Given the description of an element on the screen output the (x, y) to click on. 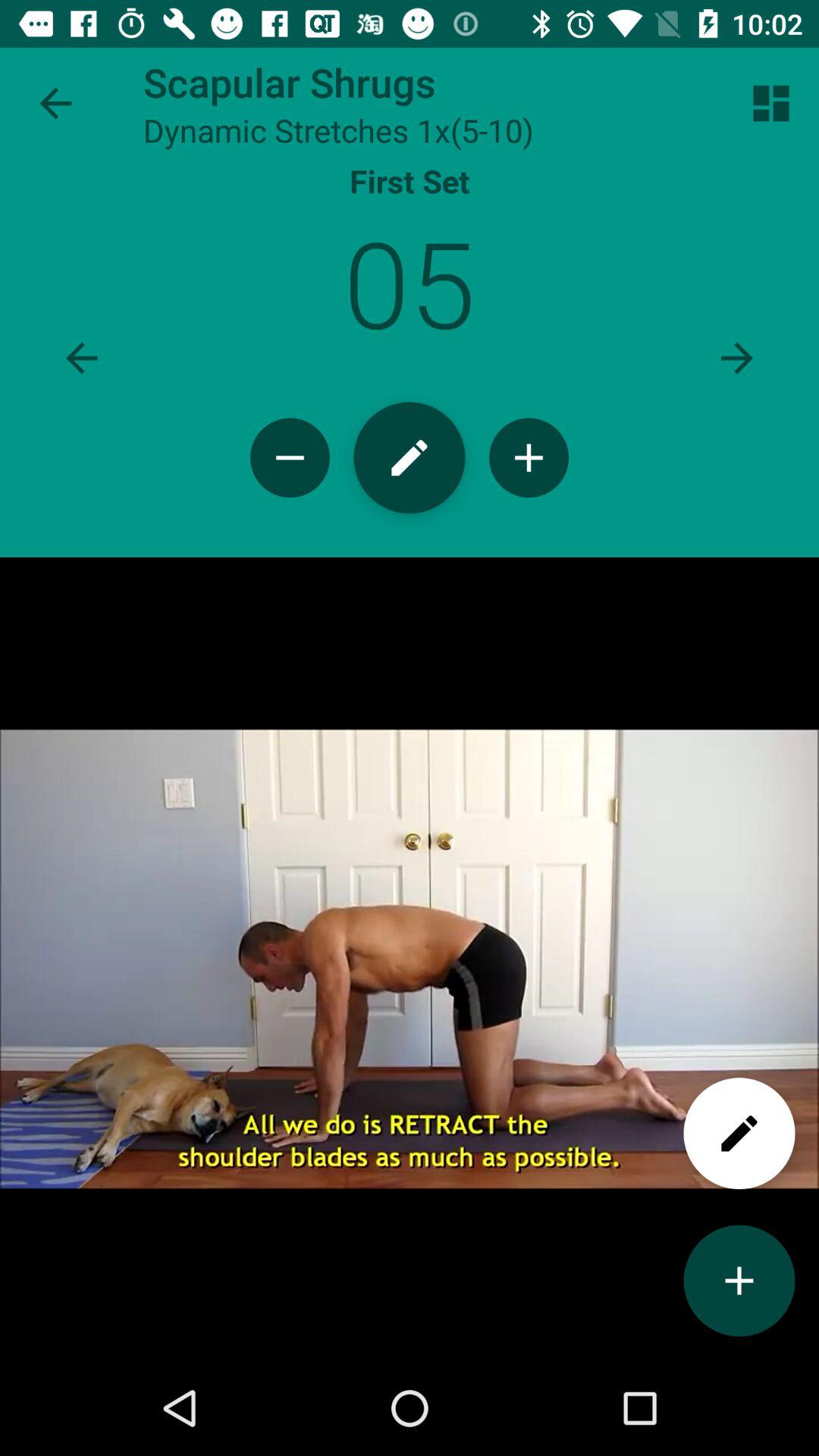
write a message (739, 1133)
